Given the description of an element on the screen output the (x, y) to click on. 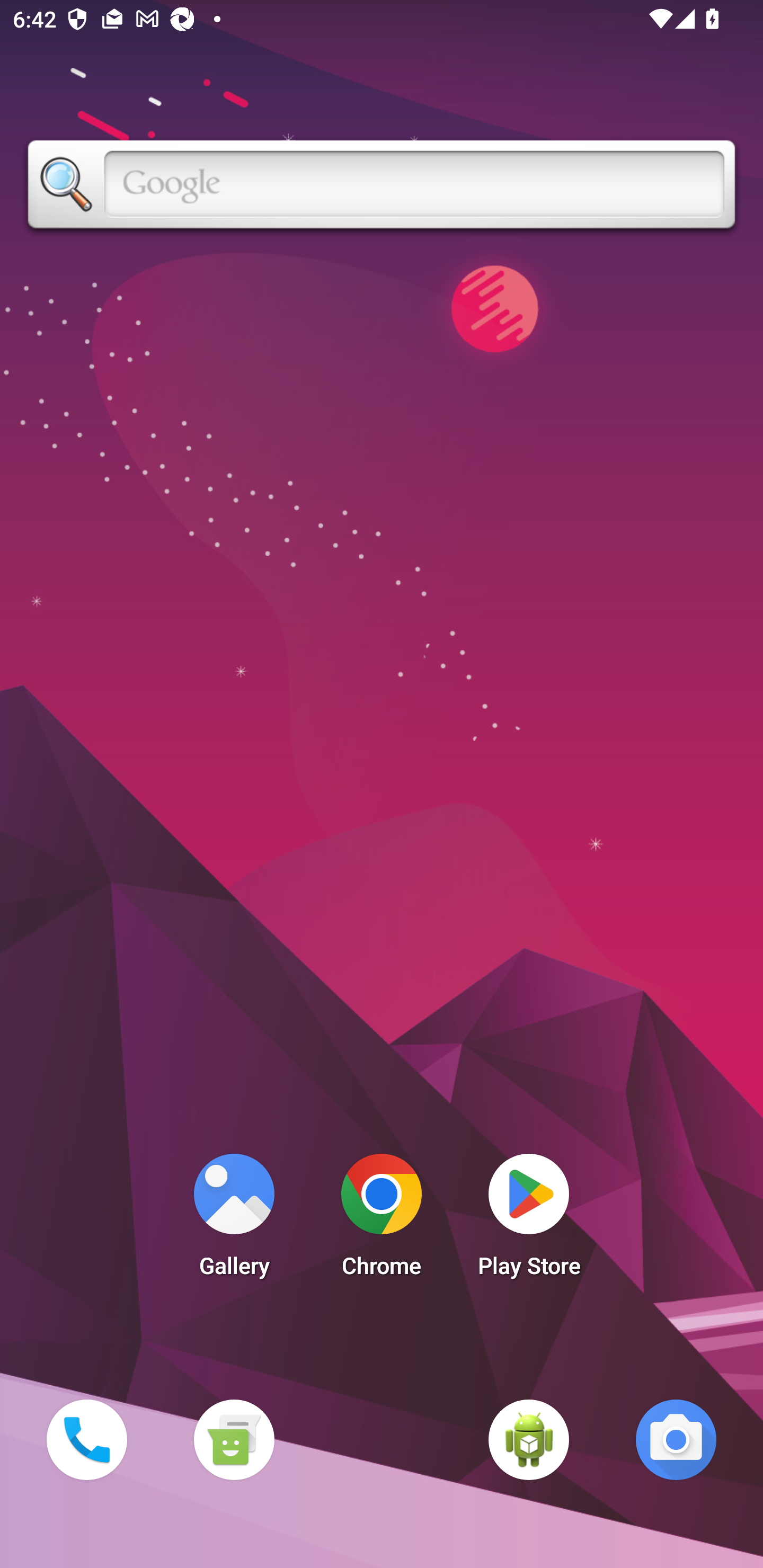
Gallery (233, 1220)
Chrome (381, 1220)
Play Store (528, 1220)
Phone (86, 1439)
Messaging (233, 1439)
WebView Browser Tester (528, 1439)
Camera (676, 1439)
